Given the description of an element on the screen output the (x, y) to click on. 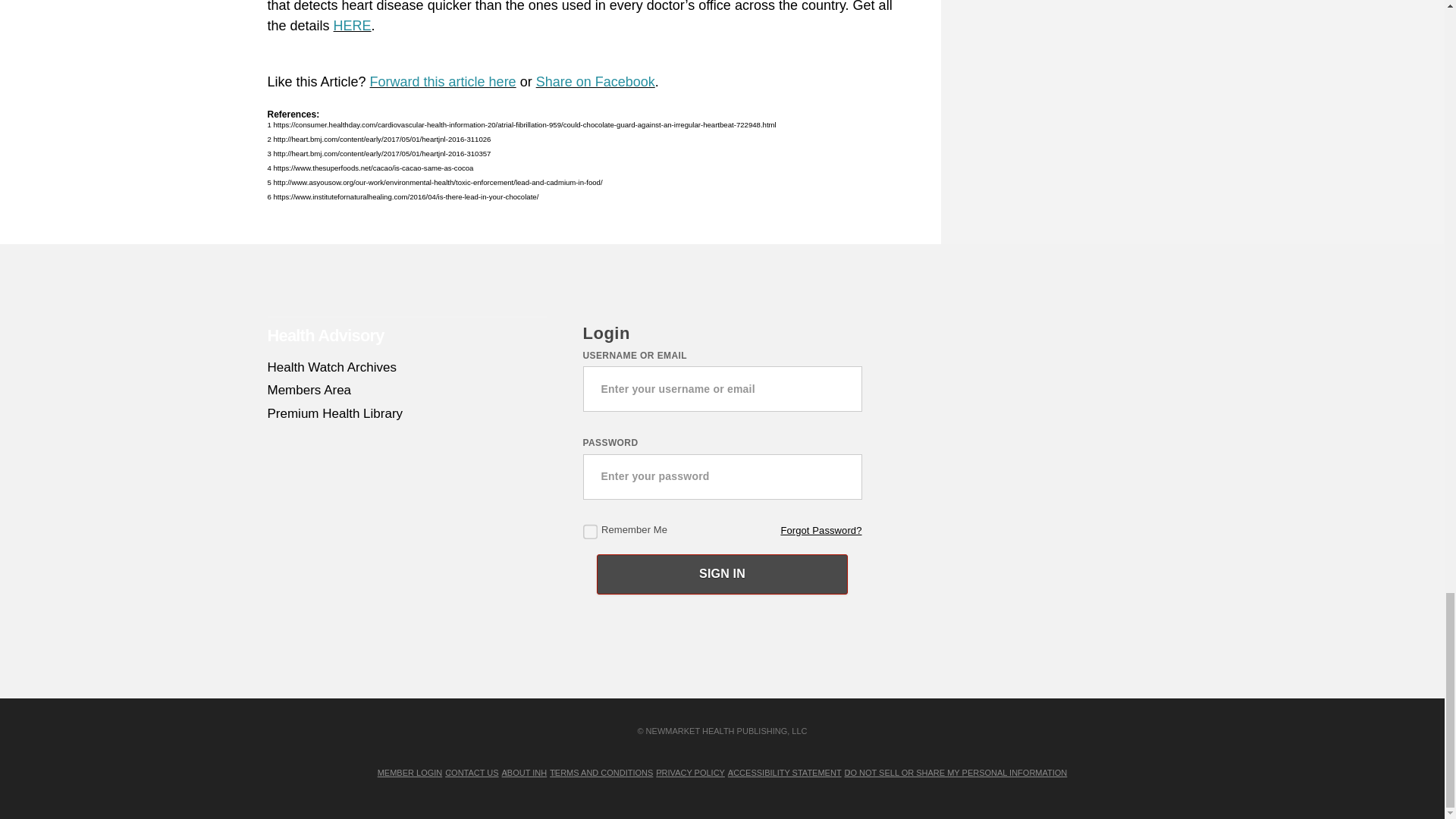
Sign In (721, 574)
